Given the description of an element on the screen output the (x, y) to click on. 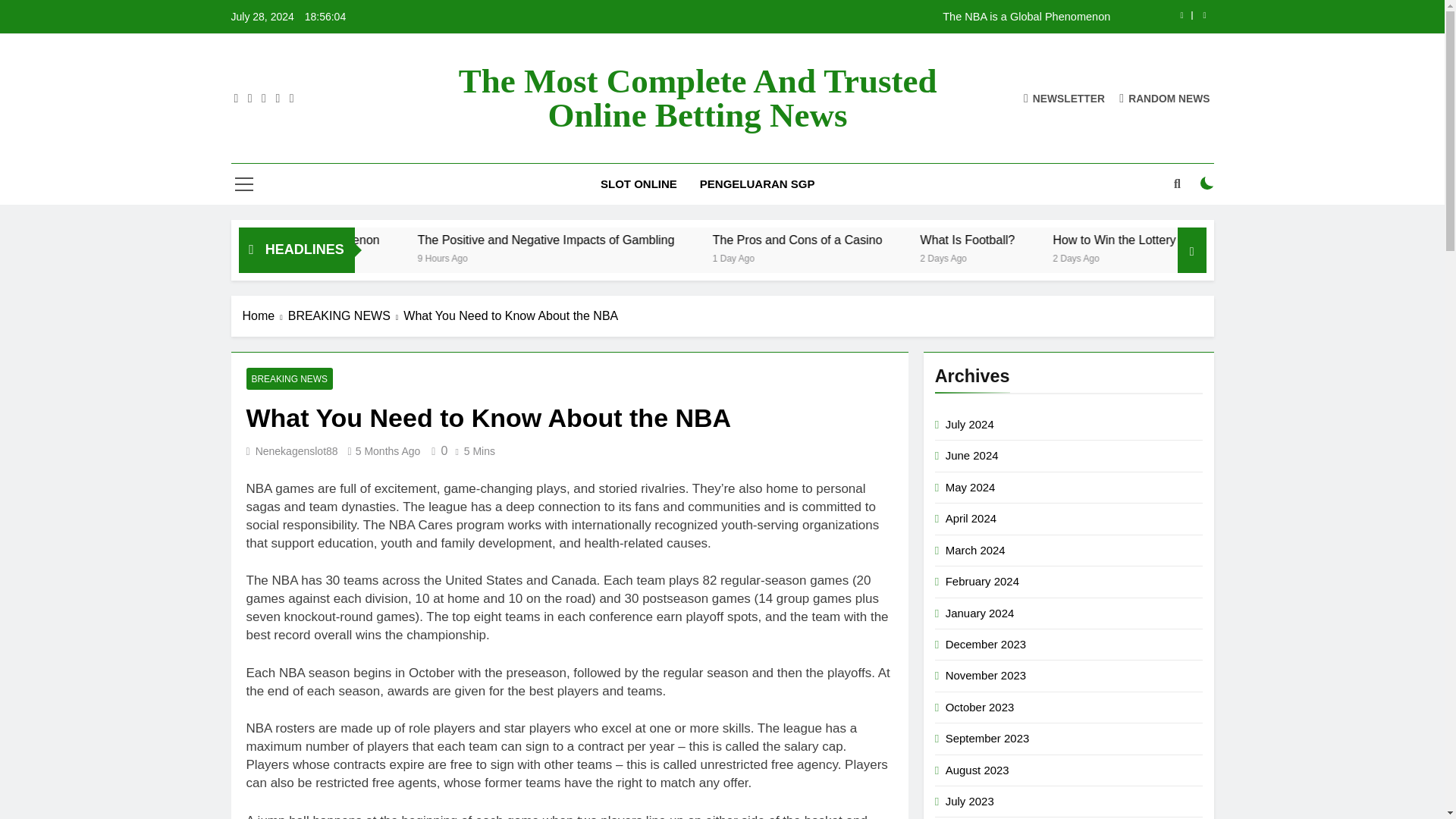
The Most Complete And Trusted Online Betting News (697, 98)
How to Win the Lottery (1232, 239)
The NBA is a Global Phenomenon (444, 239)
The NBA is a Global Phenomenon (817, 16)
What Is Football? (1114, 239)
9 Hours Ago (595, 256)
1 Day Ago (881, 256)
on (1206, 183)
RANDOM NEWS (1164, 97)
PENGELUARAN SGP (757, 183)
The Pros and Cons of a Casino (919, 239)
The Positive and Negative Impacts of Gambling (700, 239)
The Pros and Cons of a Casino (947, 239)
The Positive and Negative Impacts of Gambling (669, 239)
7 Hours Ago (375, 256)
